Given the description of an element on the screen output the (x, y) to click on. 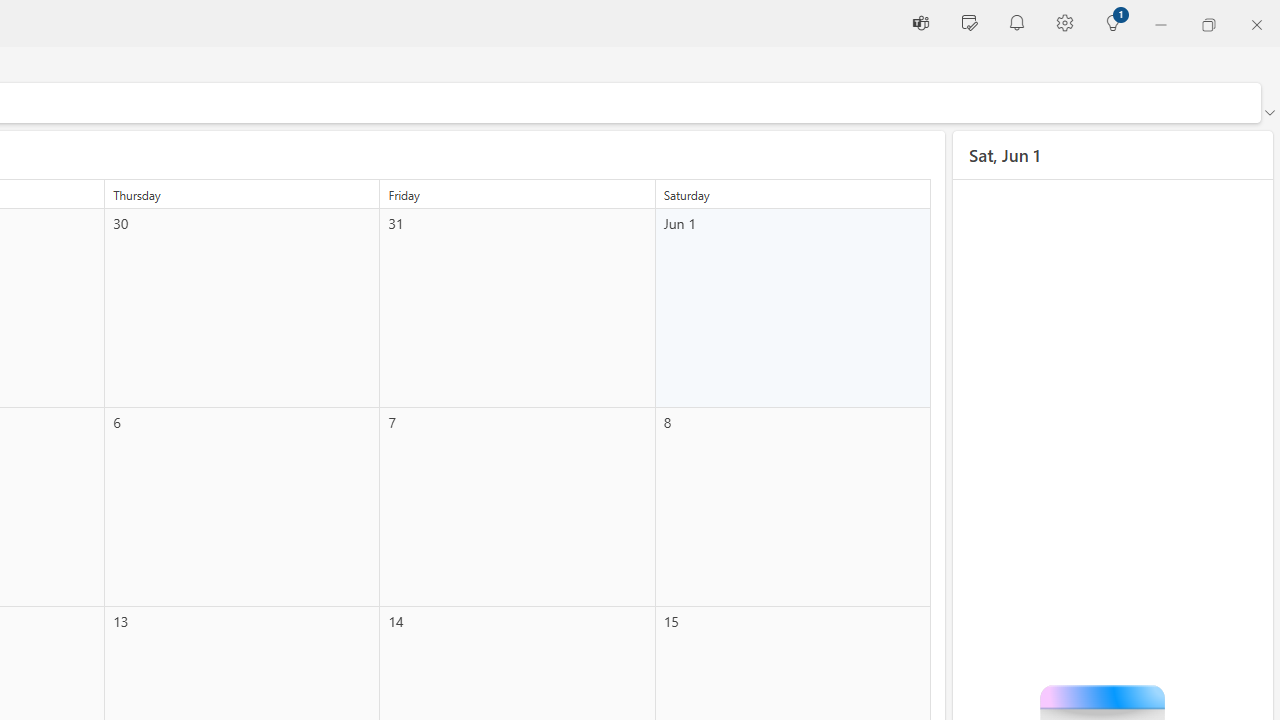
Ribbon display options (1269, 112)
